Given the description of an element on the screen output the (x, y) to click on. 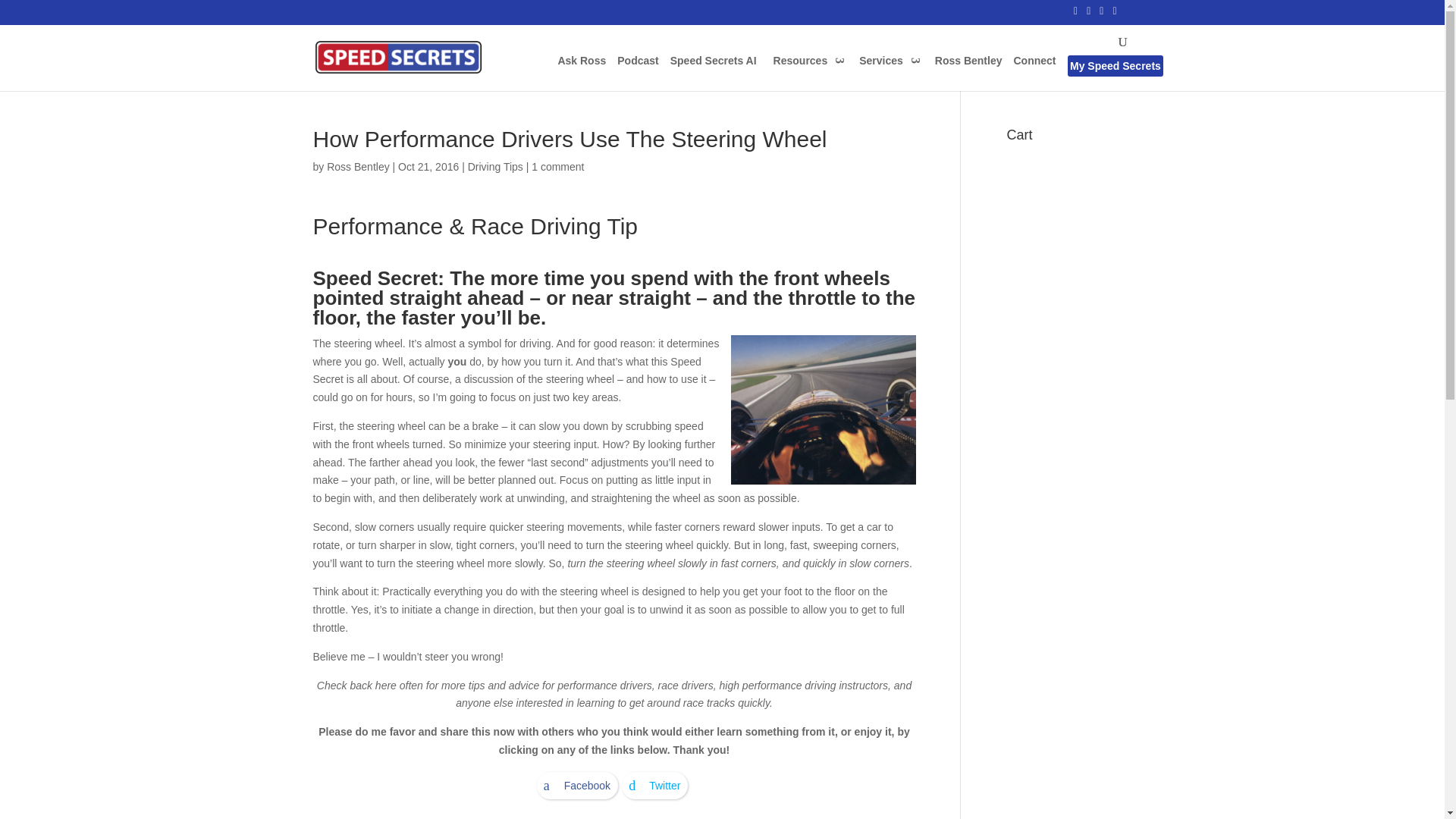
Connect (1034, 72)
Twitter (654, 785)
Services (888, 72)
1 comment (557, 166)
Speed Secrets AI (713, 72)
Driving Tips (494, 166)
Facebook (577, 785)
Ross Bentley (357, 166)
Ross Bentley (968, 72)
Podcast (637, 72)
My Speed Secrets (1115, 78)
Ask Ross (581, 72)
Posts by Ross Bentley (357, 166)
Resources (808, 72)
